Given the description of an element on the screen output the (x, y) to click on. 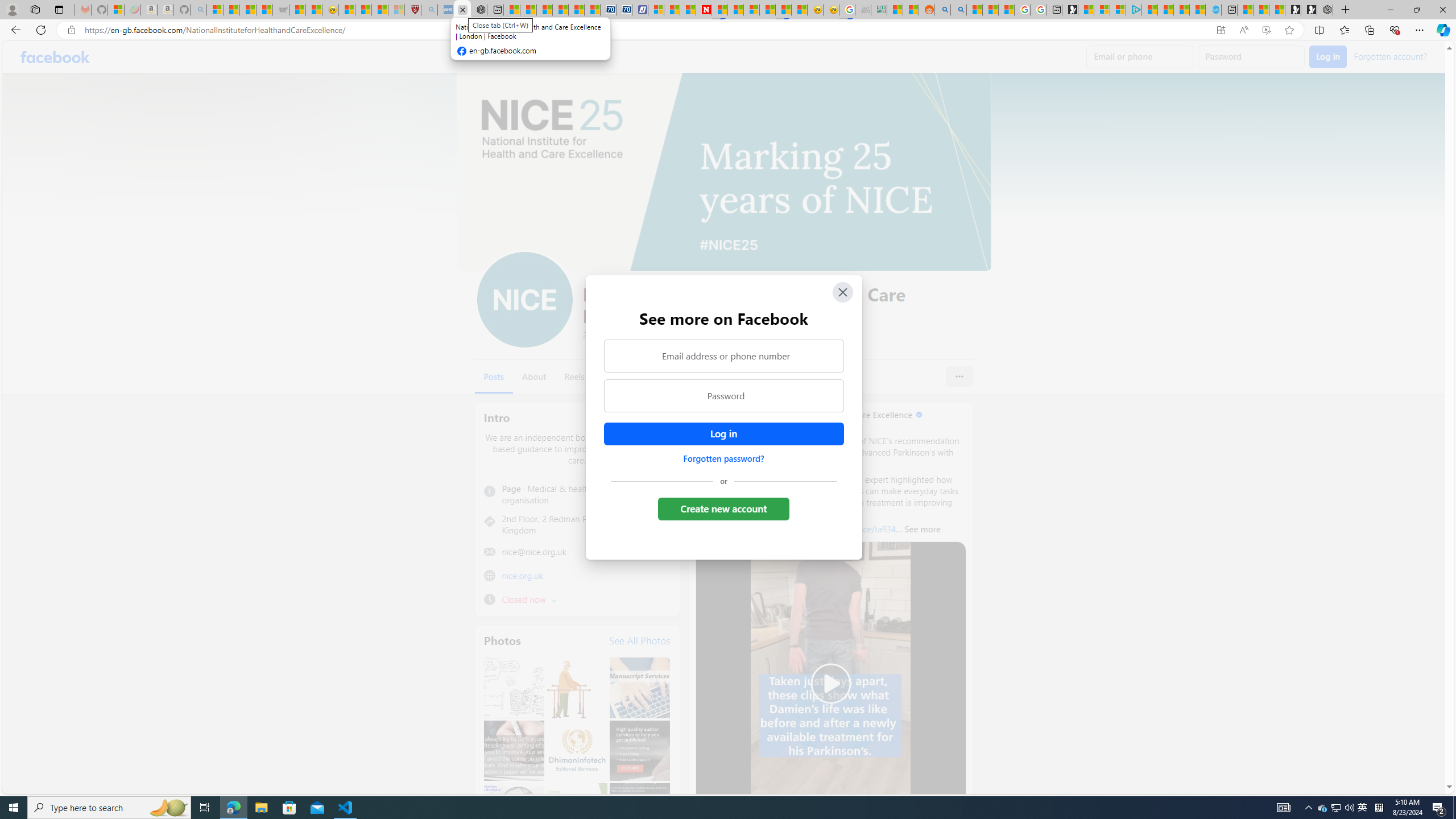
14 Common Myths Debunked By Scientific Facts (735, 9)
Email or phone (1139, 56)
Forgotten password? (723, 458)
Newsweek - News, Analysis, Politics, Business, Technology (703, 9)
Facebook (55, 56)
